Given the description of an element on the screen output the (x, y) to click on. 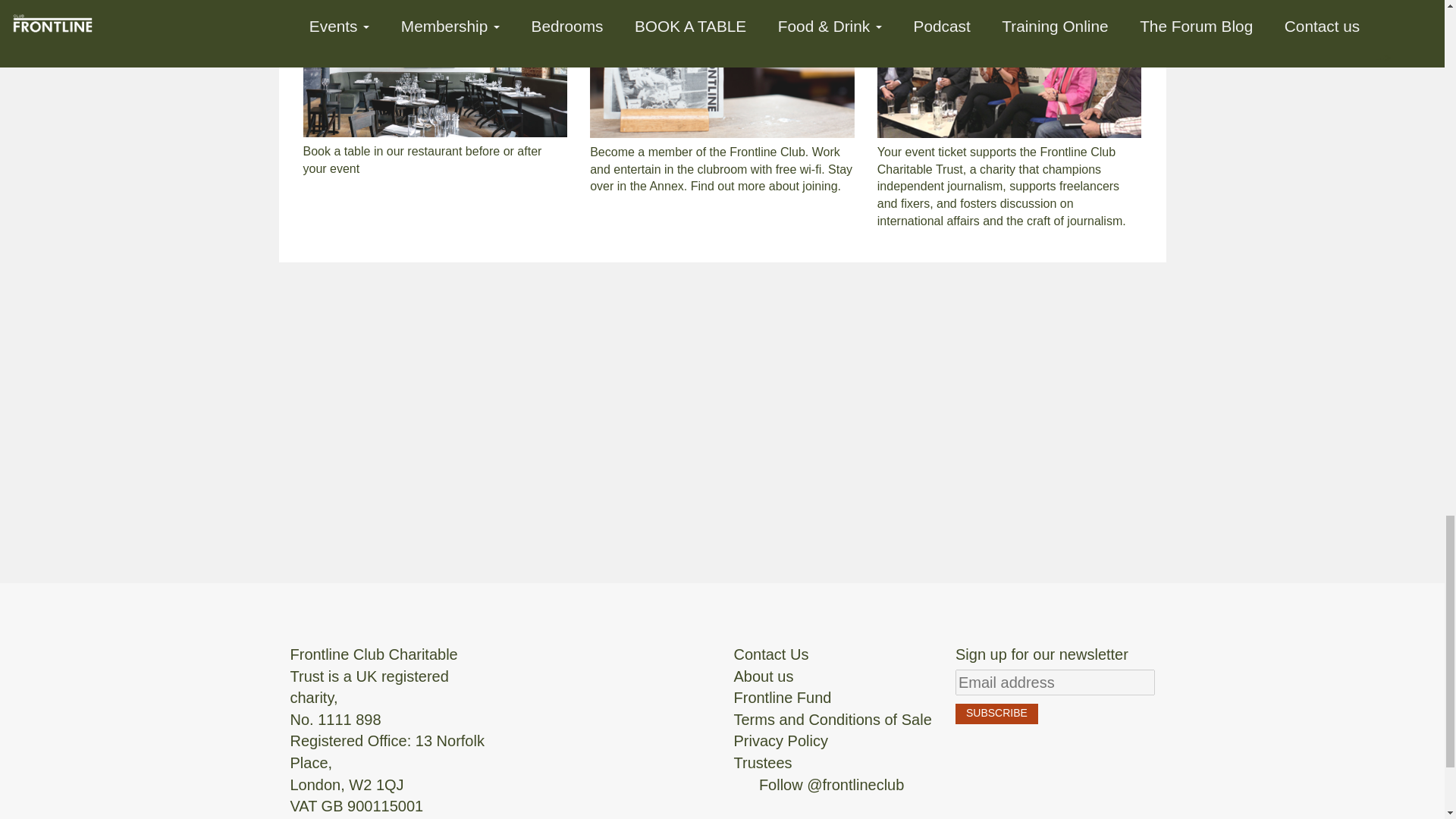
About us (763, 676)
Book a table in our restaurant before or after your event (434, 117)
Contact Us (771, 654)
Privacy Policy (780, 740)
Frontline Fund (782, 697)
Terms and Conditions of Sale (832, 719)
Trustees (762, 762)
Subscribe (996, 713)
